Given the description of an element on the screen output the (x, y) to click on. 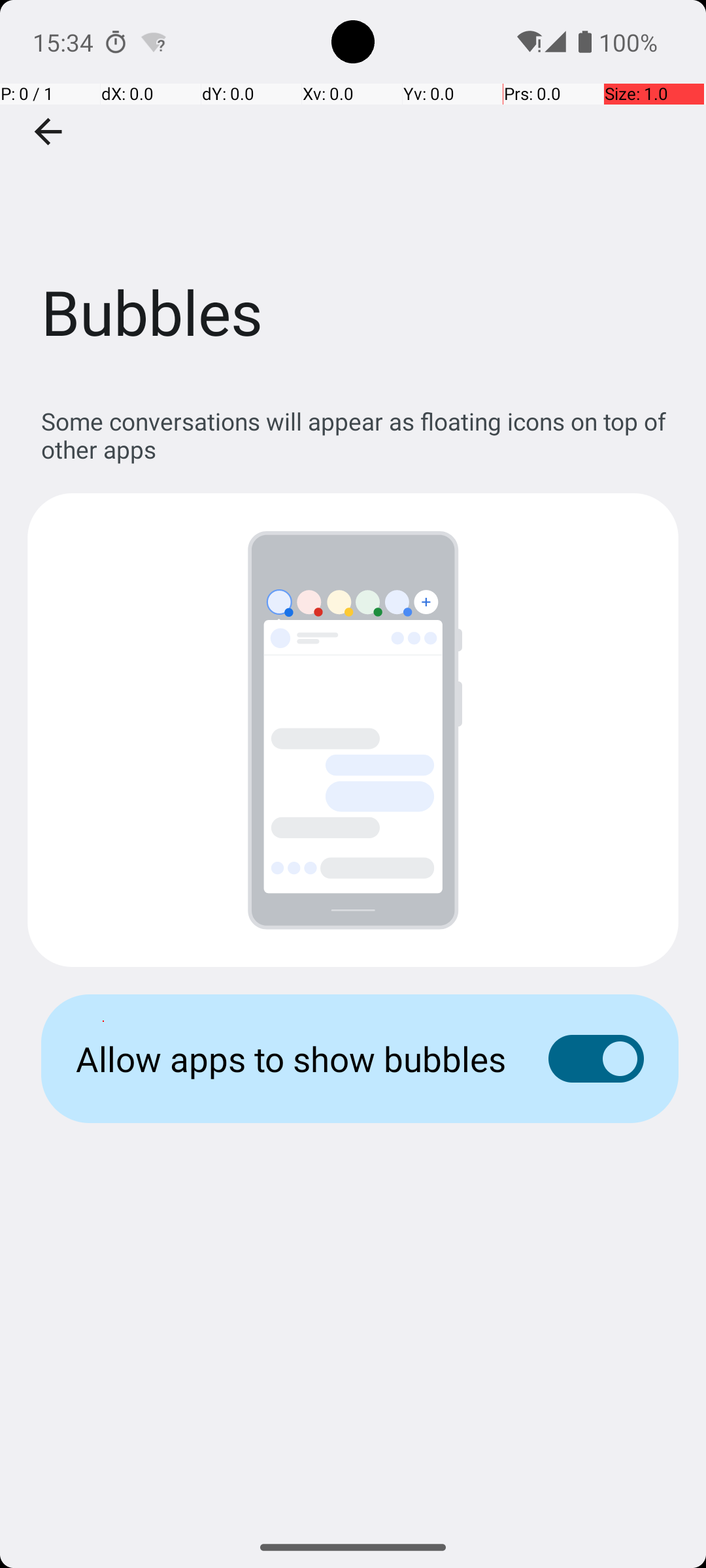
Some conversations will appear as floating icons on top of other apps Element type: android.widget.TextView (359, 434)
Allow apps to show bubbles Element type: android.widget.TextView (291, 1058)
